Given the description of an element on the screen output the (x, y) to click on. 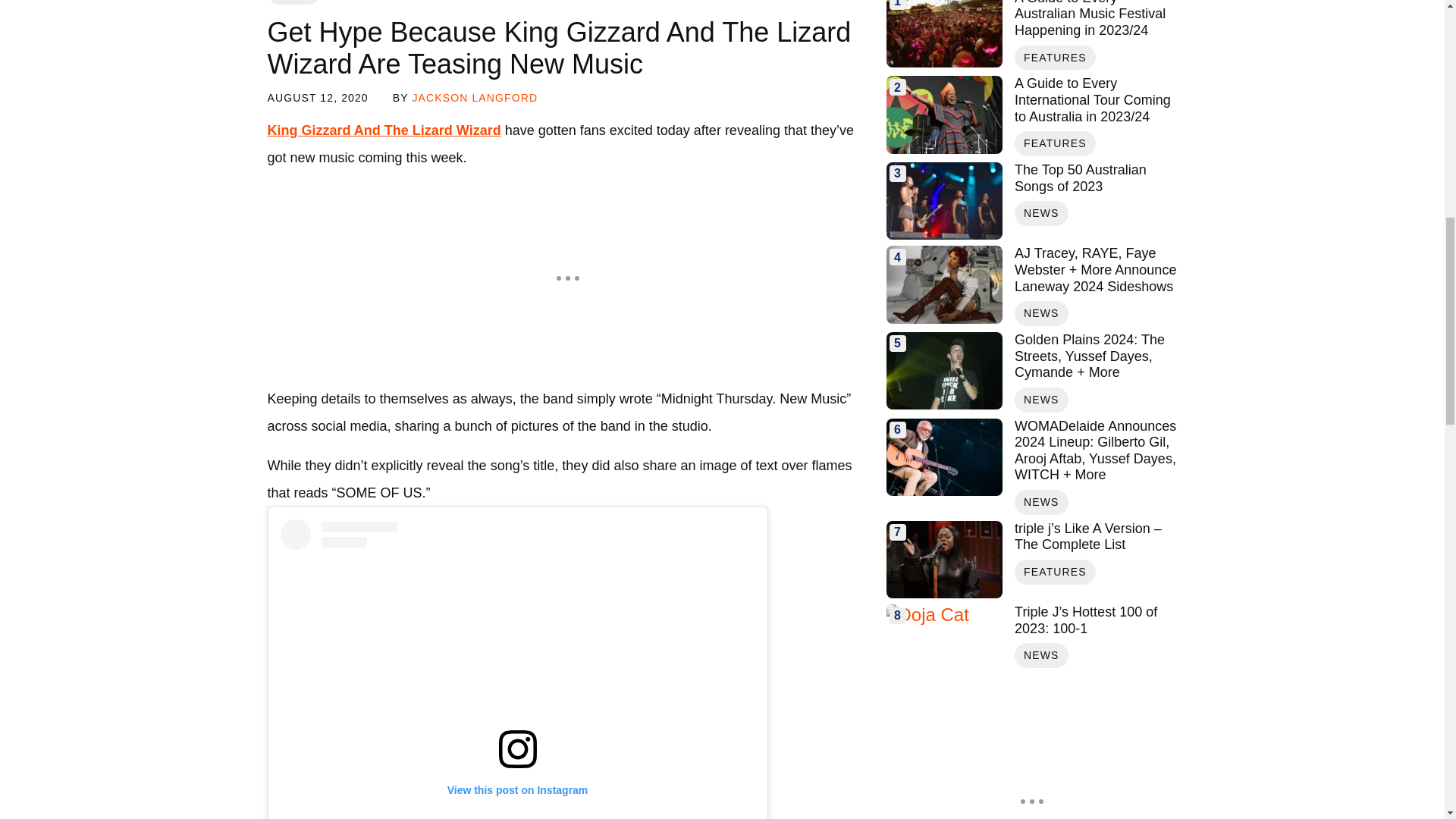
The Top 50 Australian Songs of 2023 (1095, 178)
NEWS (293, 2)
JACKSON LANGFORD (474, 97)
King Gizzard And The Lizard Wizard (383, 130)
The Top 50 Australian Songs of 2023 (944, 200)
